Given the description of an element on the screen output the (x, y) to click on. 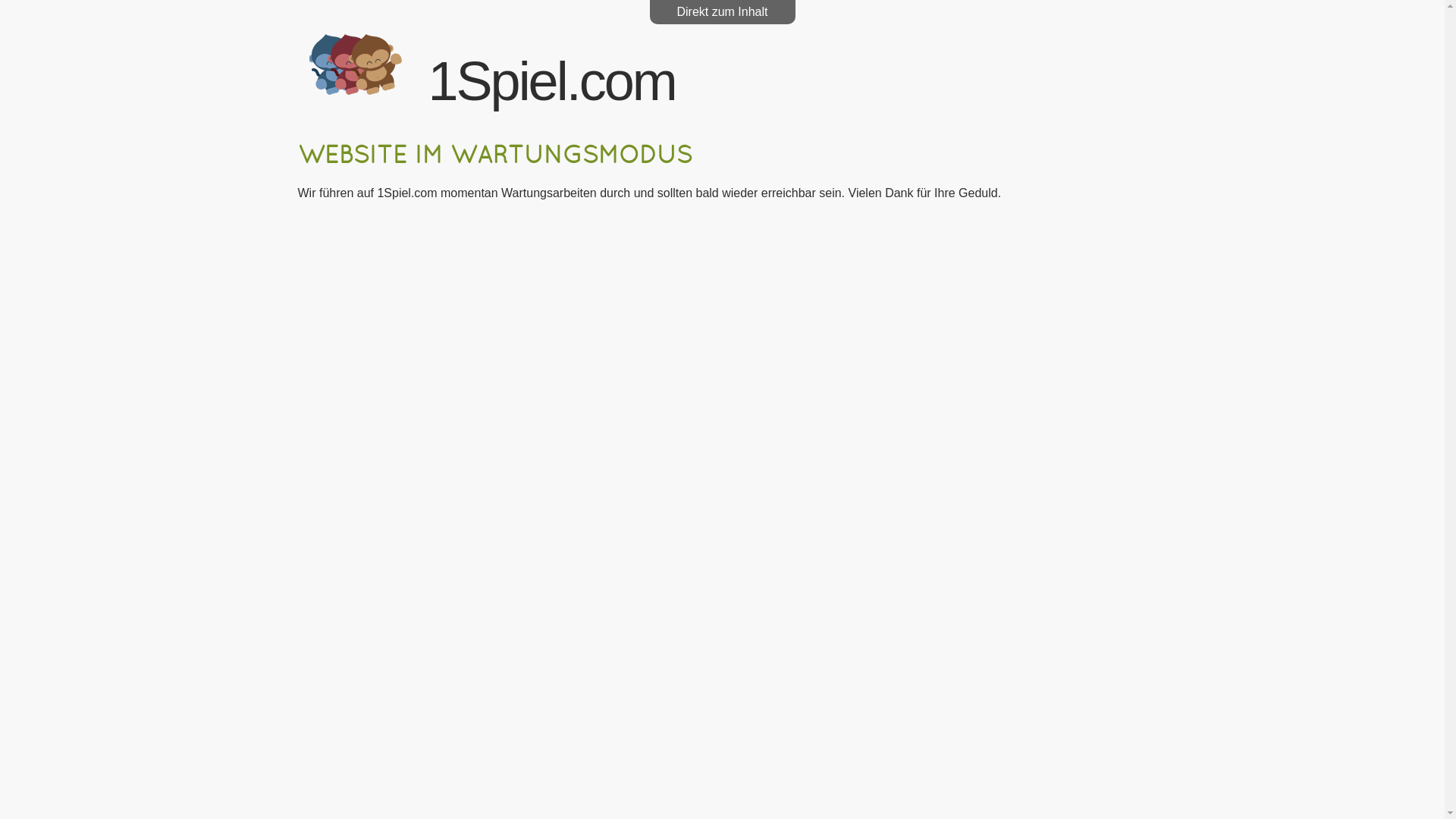
1Spiel.com Element type: text (551, 80)
Direkt zum Inhalt Element type: text (721, 12)
Startseite Element type: hover (355, 90)
